Given the description of an element on the screen output the (x, y) to click on. 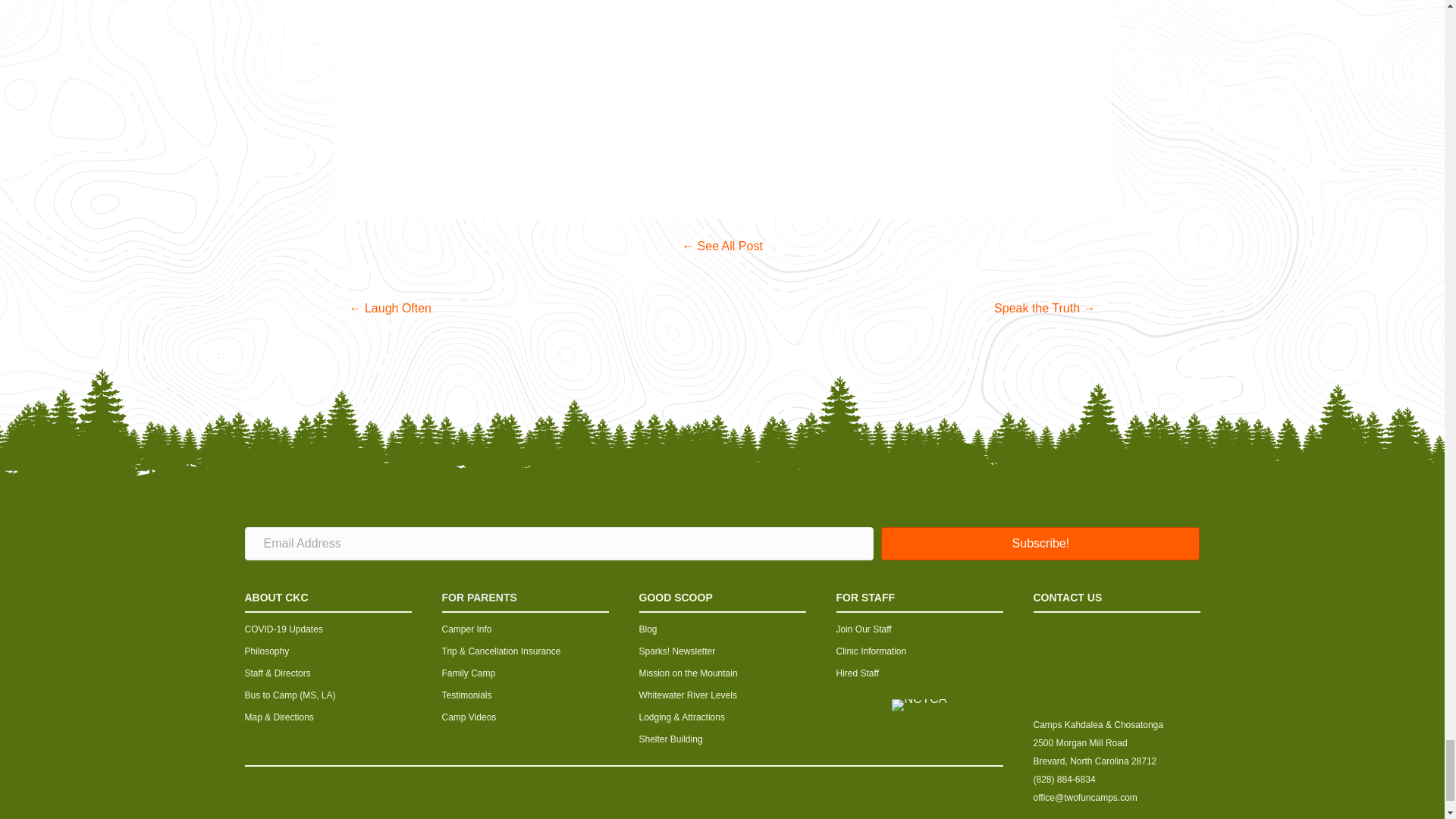
CKCSparks (721, 245)
NCYCA (918, 705)
 Camps Kahdalea and Chosatonga (1115, 669)
